Given the description of an element on the screen output the (x, y) to click on. 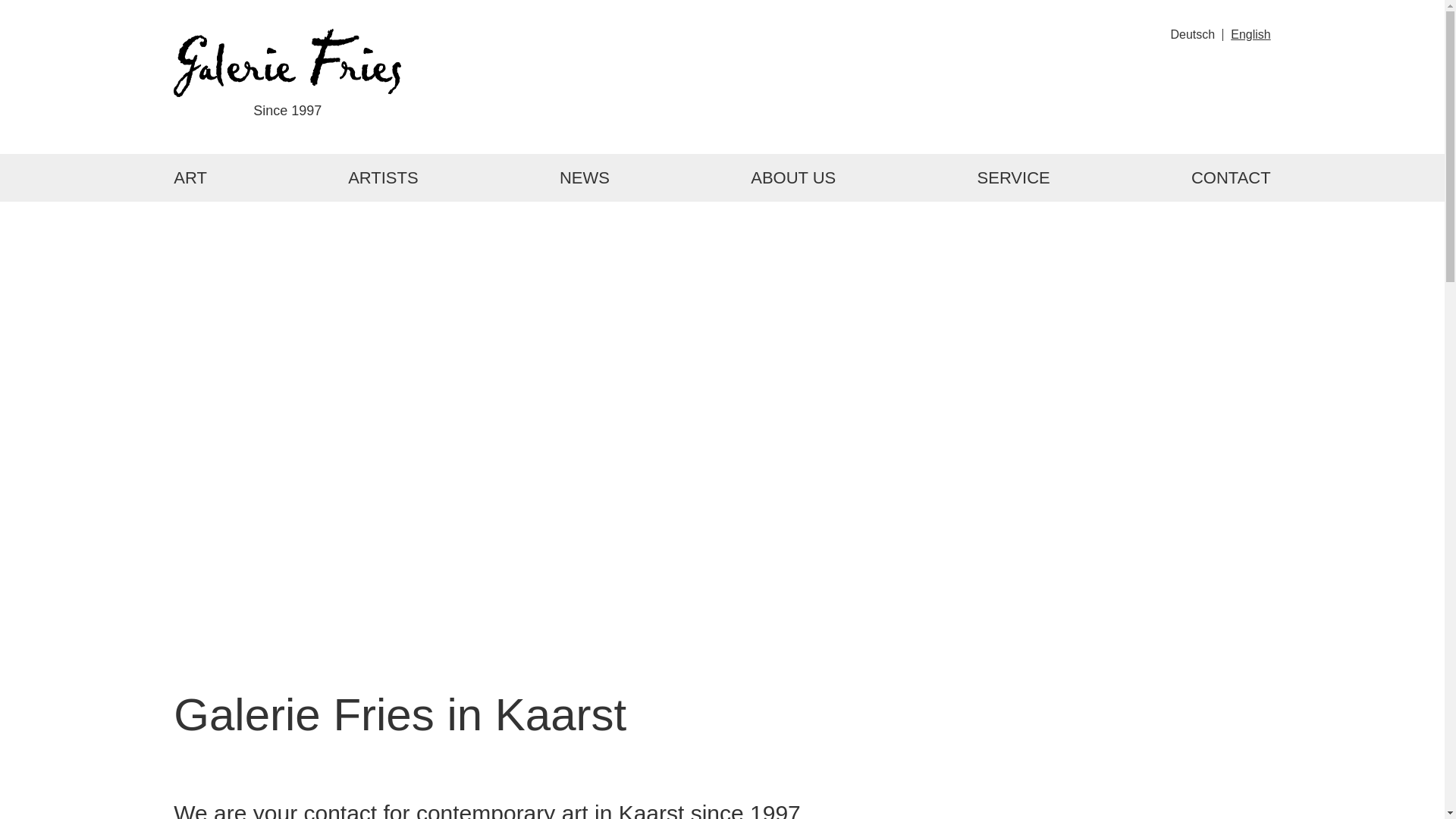
Deutsch (1192, 33)
SERVICE (1012, 177)
ART (189, 177)
English (1249, 33)
ARTISTS (382, 177)
Since 1997 (287, 76)
NEWS (585, 177)
CONTACT (1230, 177)
ABOUT US (793, 177)
Galerie Fries (287, 62)
